Given the description of an element on the screen output the (x, y) to click on. 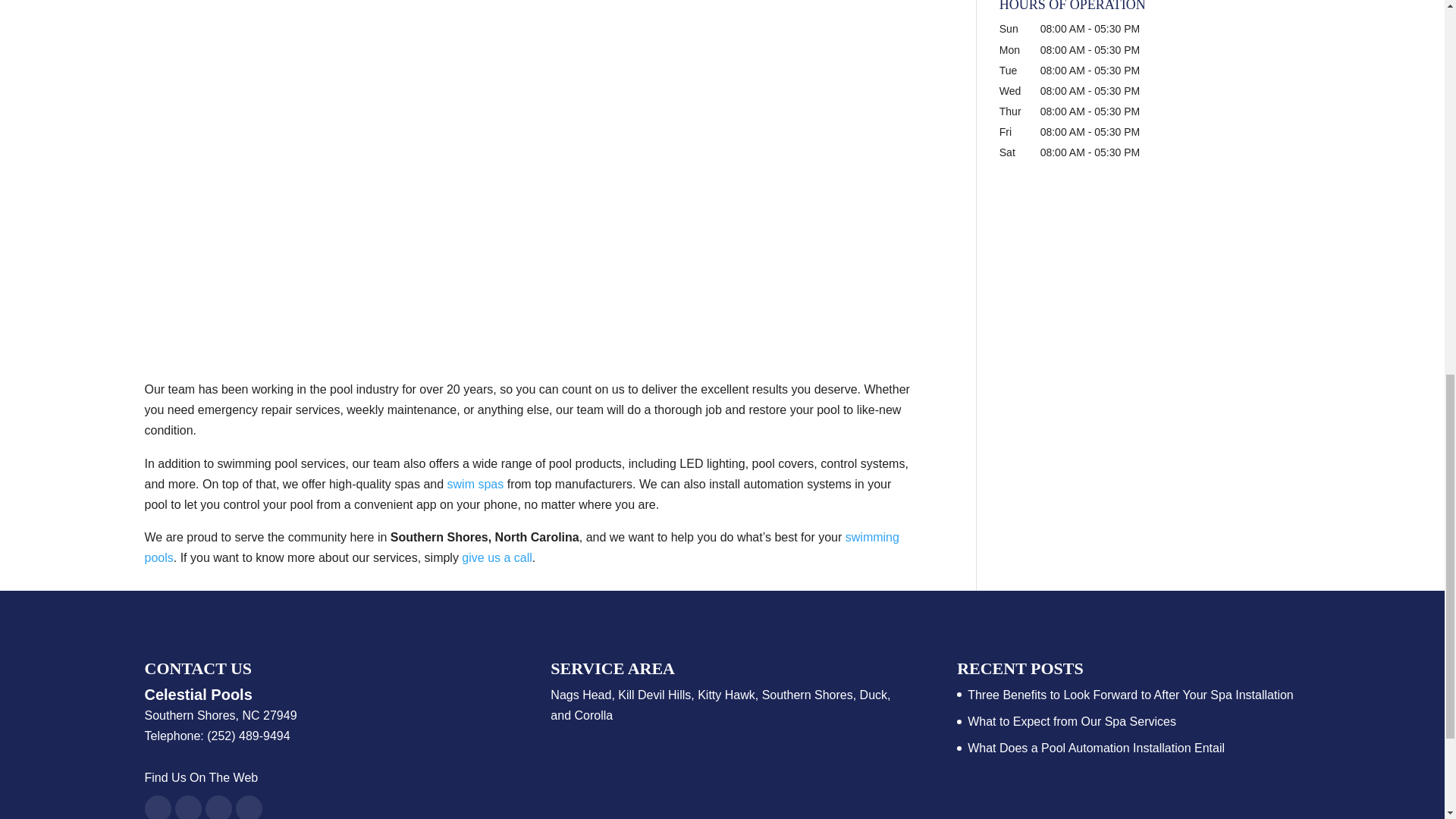
give us a call (496, 557)
What to Expect from Our Spa Services (1072, 721)
Find Us On The Web (200, 777)
swim spas (474, 483)
Facebook (157, 807)
Instagram (187, 807)
Google My Business (218, 807)
swimming pools (521, 547)
Jackpage Lite (248, 807)
